Given the description of an element on the screen output the (x, y) to click on. 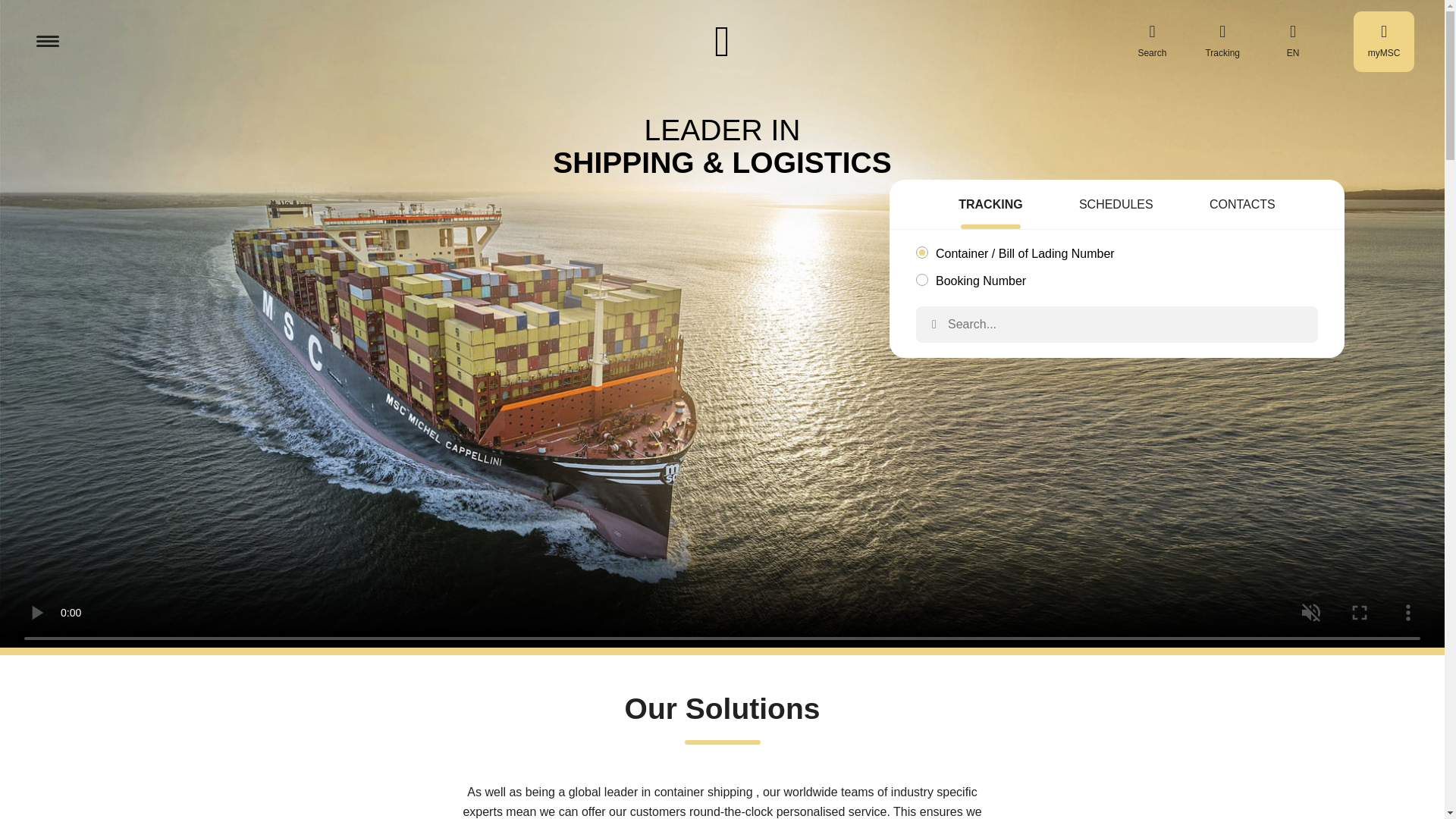
CONTACTS (1241, 205)
TRACKING (989, 205)
SCHEDULES (1116, 205)
